Given the description of an element on the screen output the (x, y) to click on. 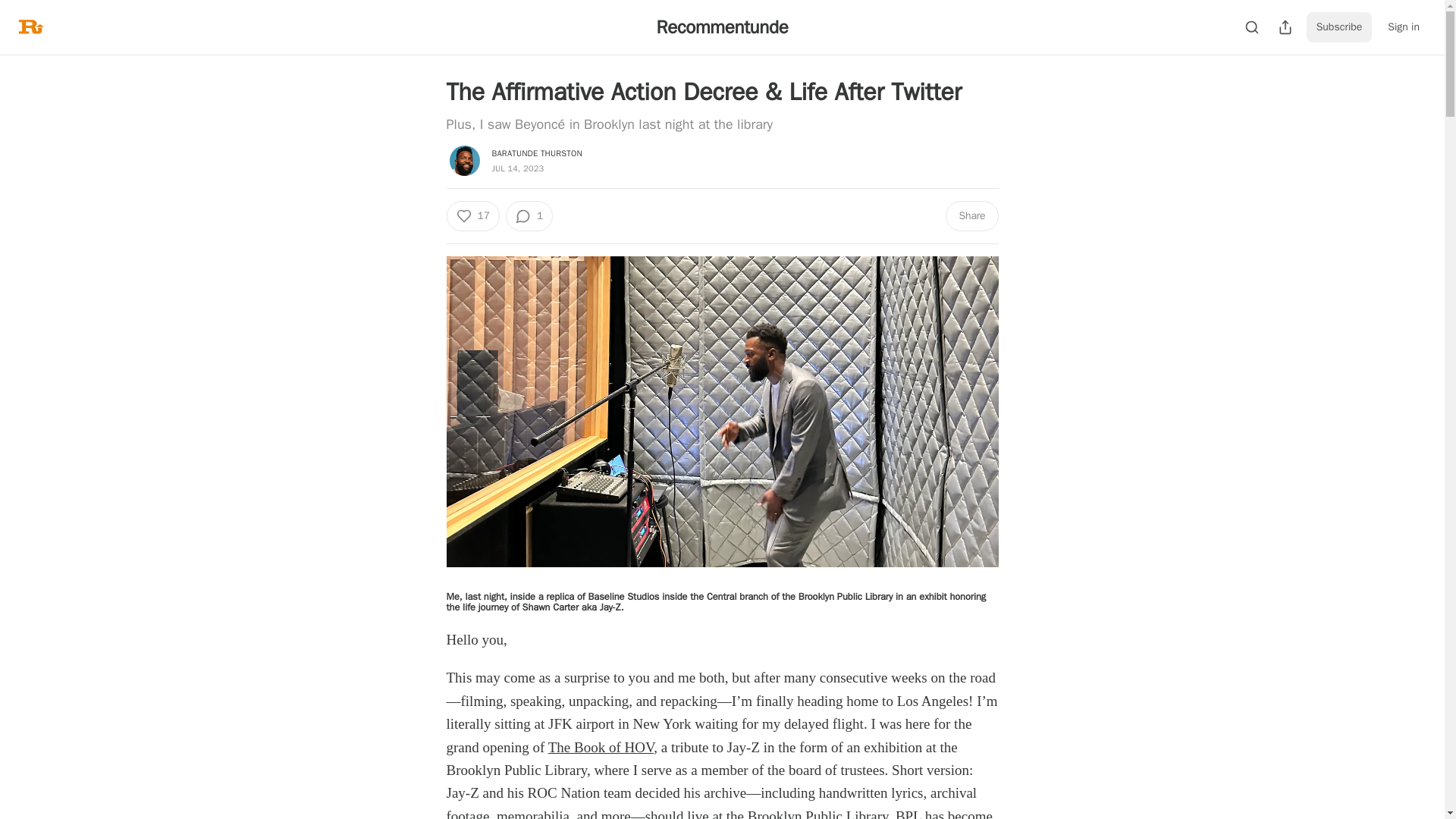
Share (970, 215)
Subscribe (1339, 27)
1 (529, 215)
BARATUNDE THURSTON (536, 153)
17 (472, 215)
Sign in (1403, 27)
Recommentunde (722, 26)
The Book of HOV (600, 747)
